Given the description of an element on the screen output the (x, y) to click on. 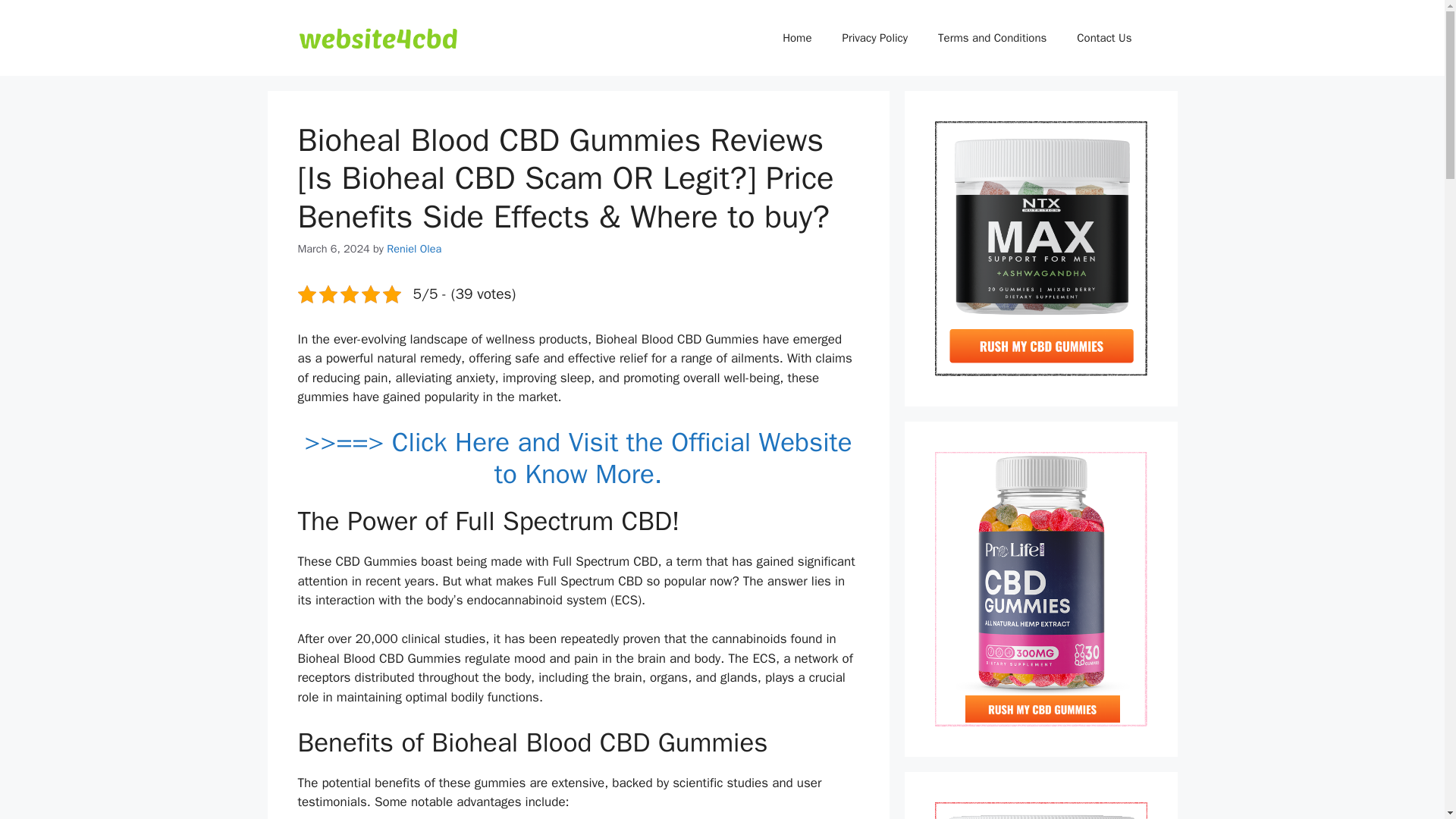
Reniel Olea (414, 248)
Contact Us (1104, 37)
Terms and Conditions (992, 37)
Privacy Policy (875, 37)
Home (797, 37)
View all posts by Reniel Olea (414, 248)
